Given the description of an element on the screen output the (x, y) to click on. 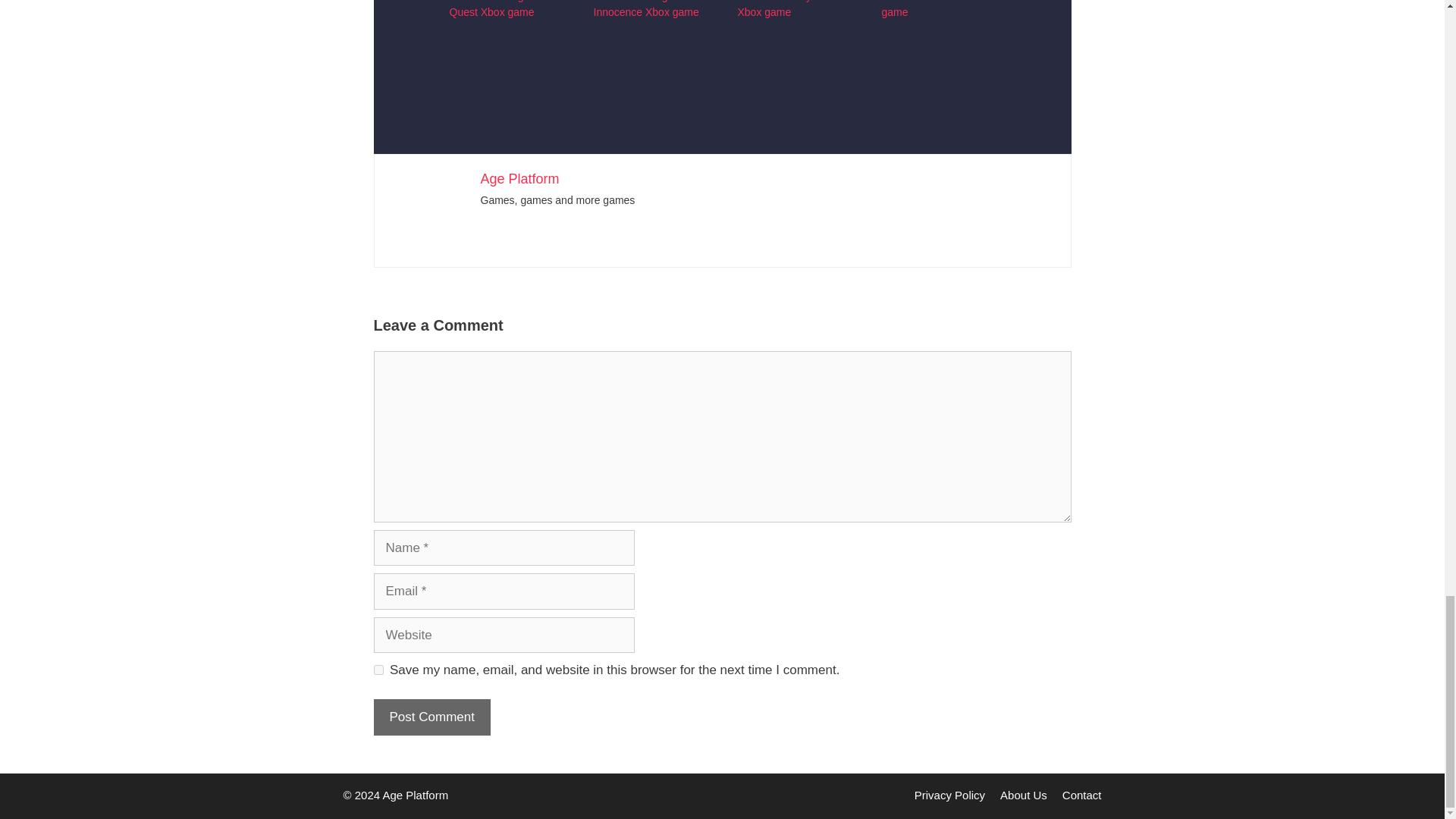
All about A Plague Tale: Innocence Xbox game (648, 9)
Privacy Policy (949, 794)
Age Platform (519, 178)
Post Comment (430, 717)
All about Aaero Xbox game (929, 9)
All about 7 Days to Die Xbox game (649, 37)
Contact (1082, 794)
yes (377, 669)
All about A KING'S TALE: FINAL FANTASY XV Xbox game (937, 37)
All about A Way Out Xbox game (783, 9)
